Given the description of an element on the screen output the (x, y) to click on. 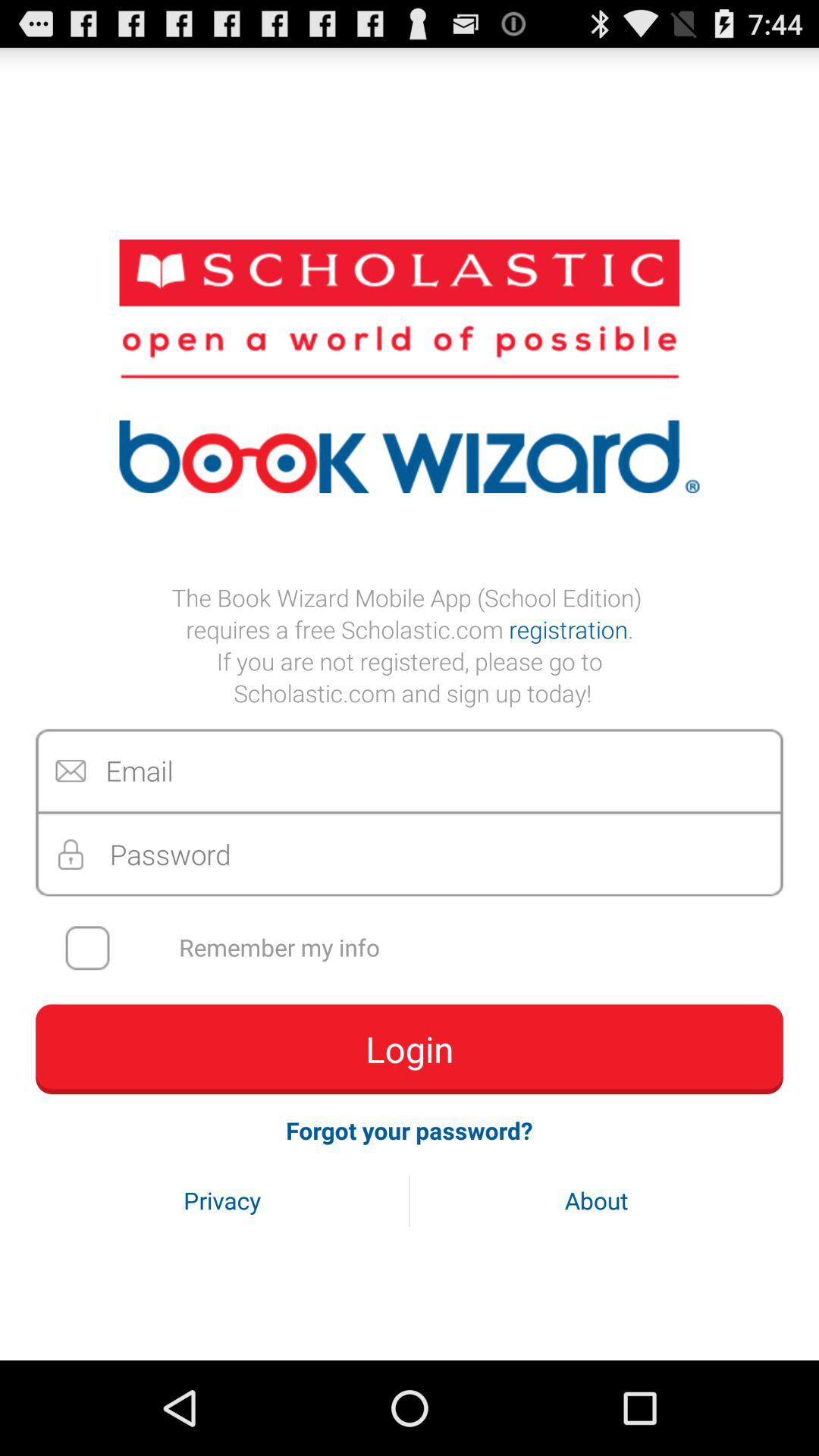
tap the item next to privacy icon (596, 1200)
